Given the description of an element on the screen output the (x, y) to click on. 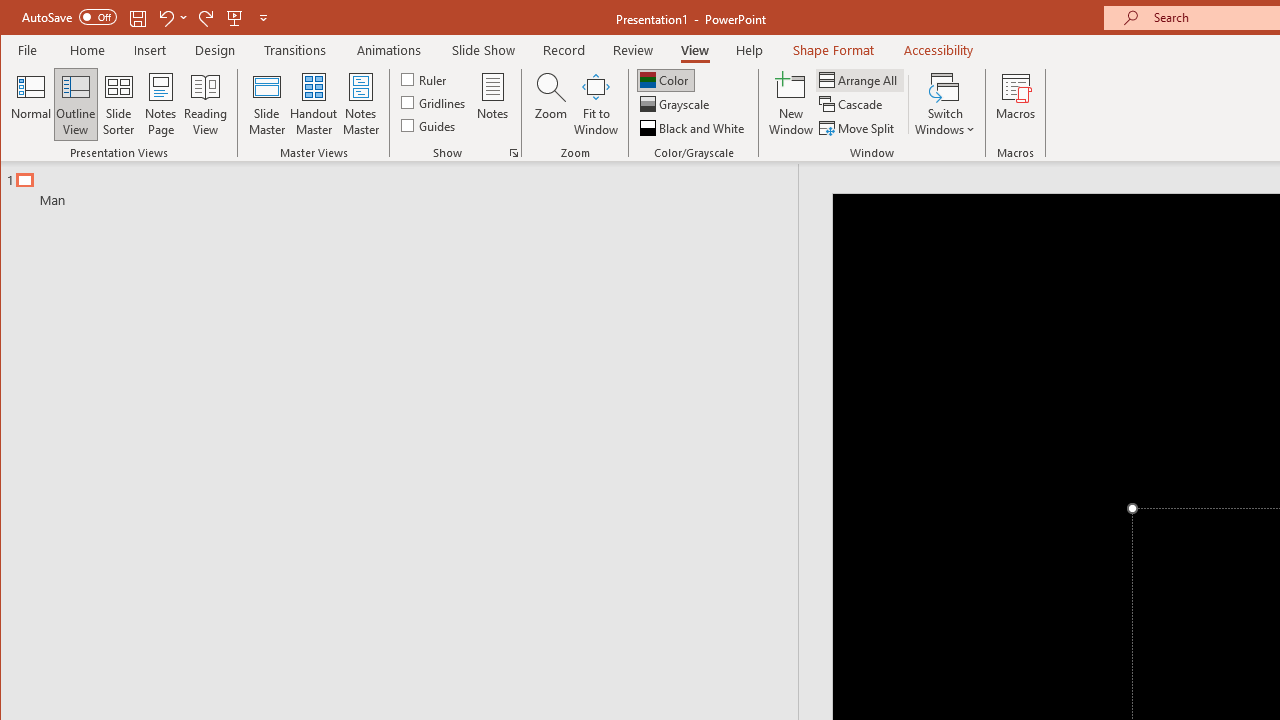
Color (666, 80)
Ruler (425, 78)
Zoom... (550, 104)
Cascade (852, 103)
Move Split (858, 127)
Notes Page (160, 104)
Arrange All (859, 80)
